Given the description of an element on the screen output the (x, y) to click on. 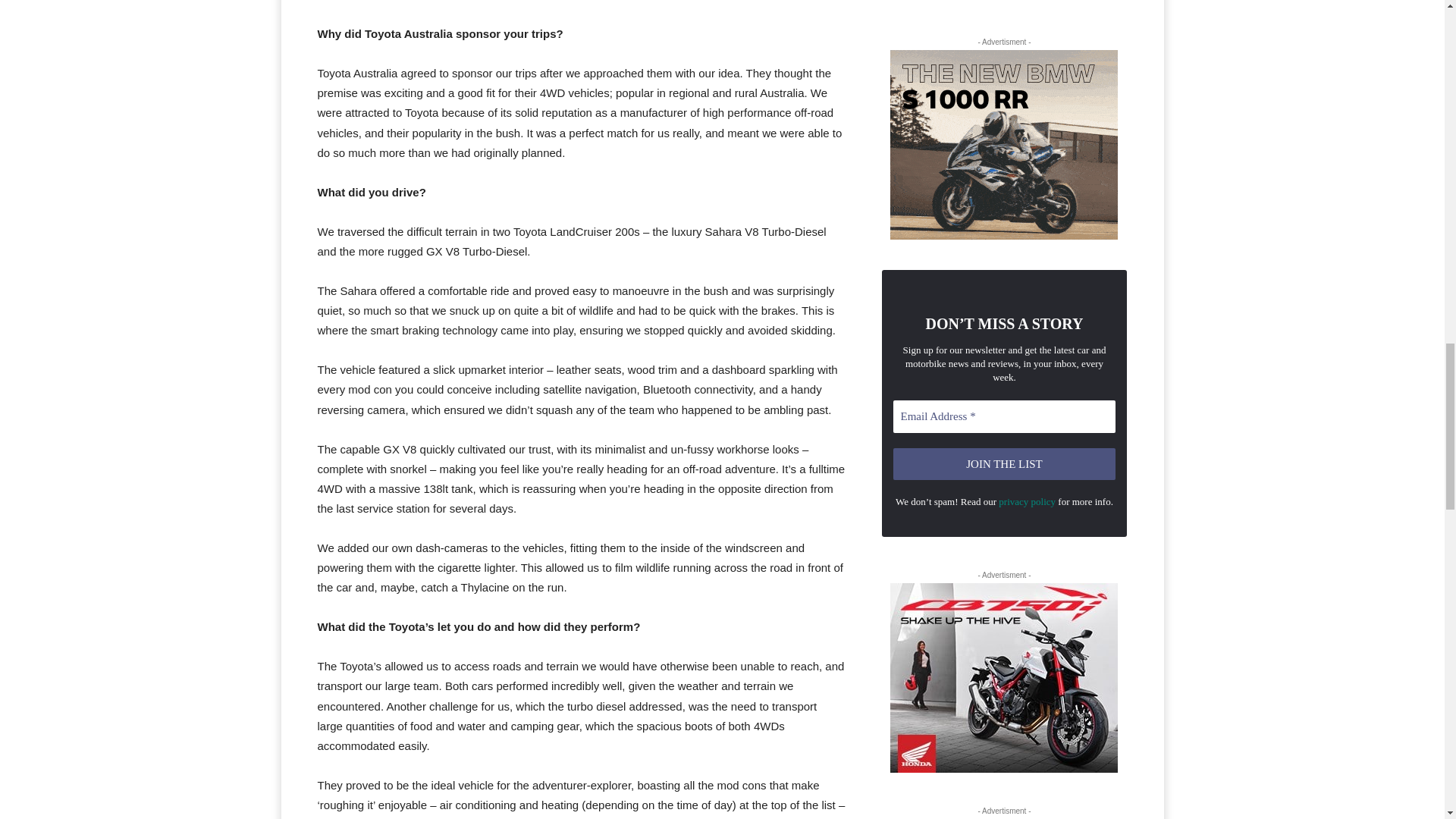
JOIN THE LIST (1004, 463)
